Given the description of an element on the screen output the (x, y) to click on. 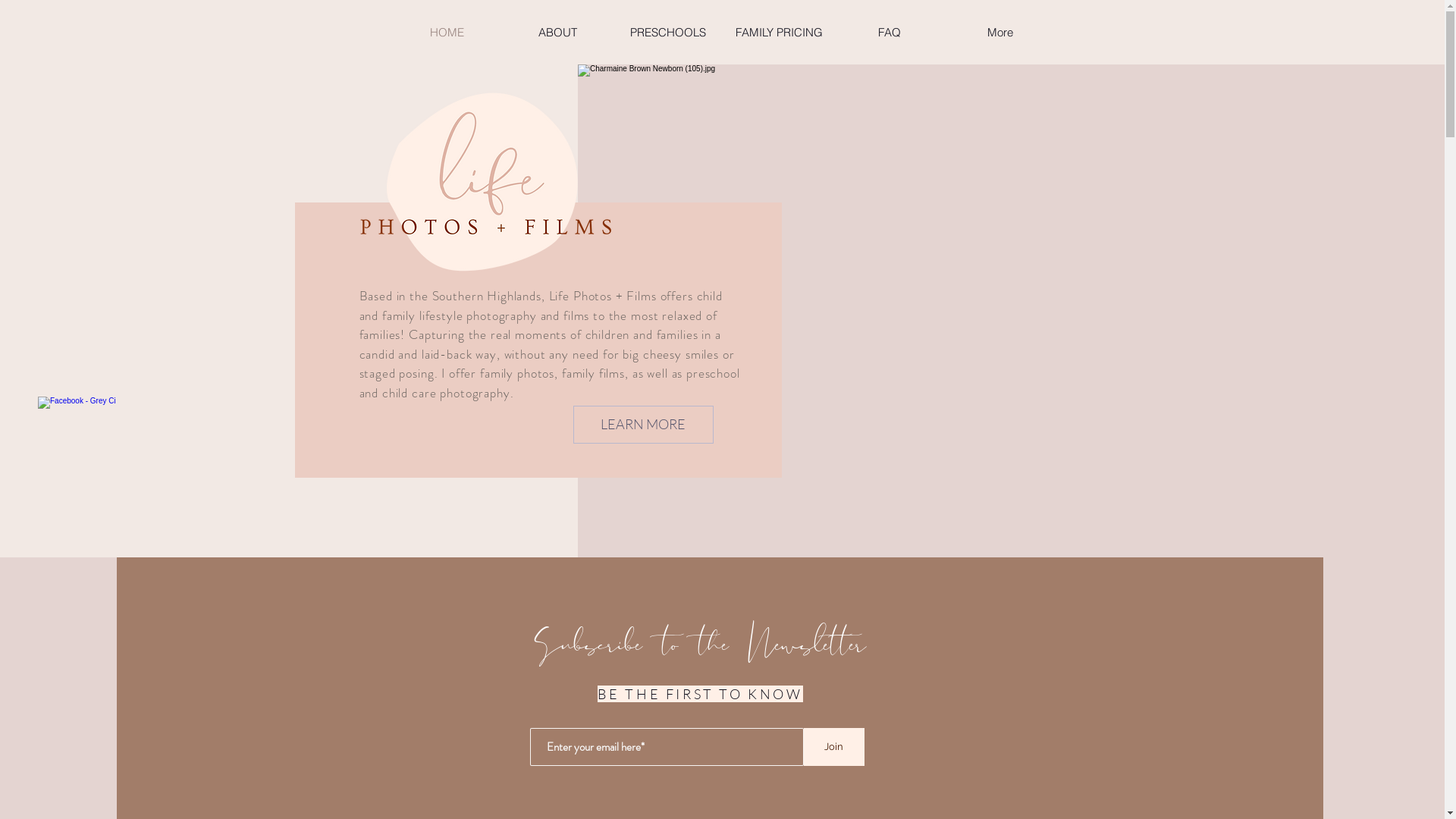
PRESCHOOLS Element type: text (667, 31)
FAQ Element type: text (889, 31)
FAMILY PRICING Element type: text (778, 31)
Join Element type: text (833, 746)
ABOUT Element type: text (557, 31)
Log In Element type: text (1053, 39)
HOME Element type: text (446, 31)
